Given the description of an element on the screen output the (x, y) to click on. 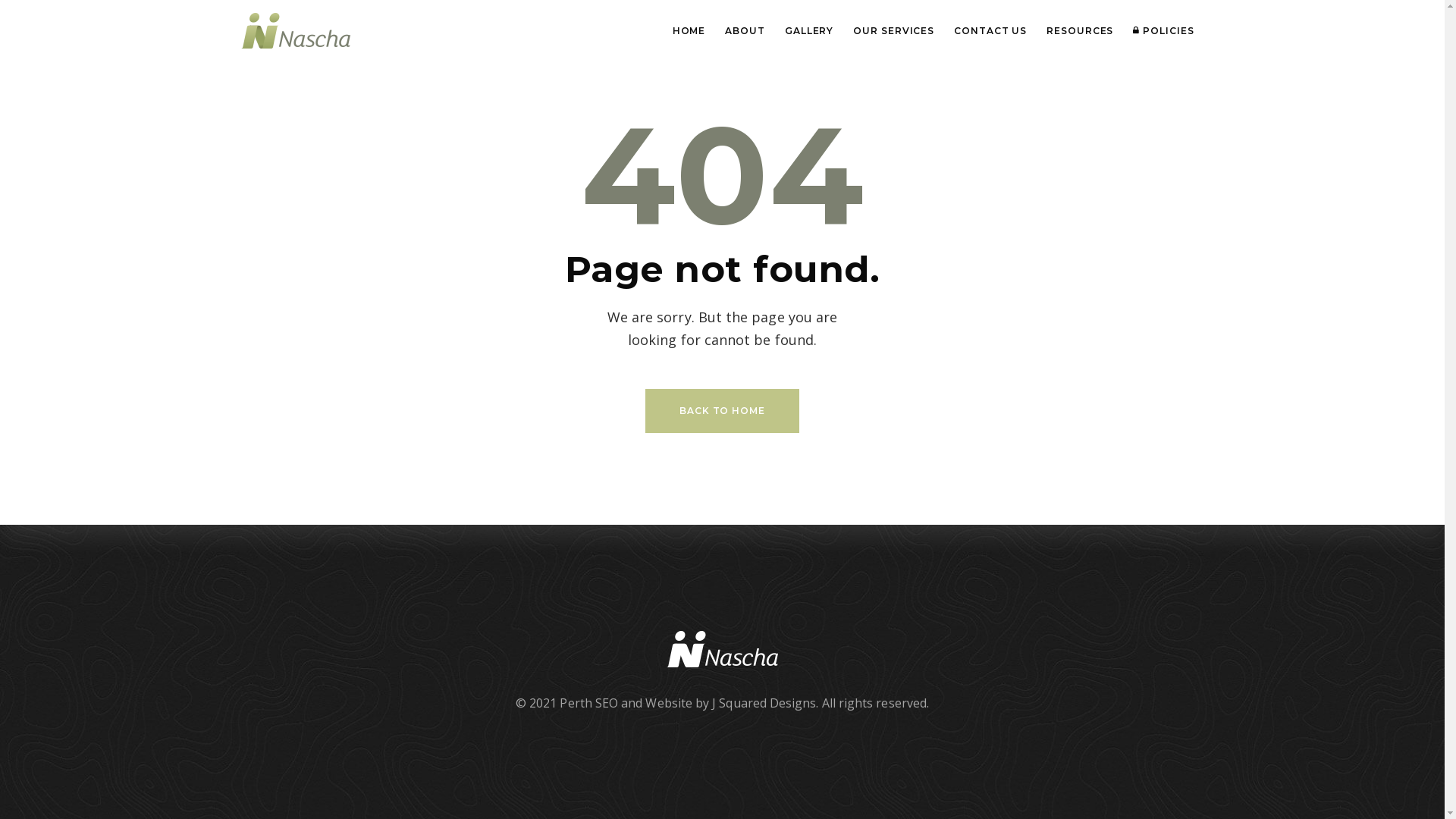
POLICIES Element type: text (1163, 30)
ABOUT Element type: text (745, 30)
OUR SERVICES Element type: text (893, 30)
BACK TO HOME Element type: text (722, 411)
RESOURCES Element type: text (1079, 30)
Perth SEO and Website Element type: text (625, 702)
HOME Element type: text (688, 30)
GALLERY Element type: text (809, 30)
CONTACT US Element type: text (990, 30)
